Given the description of an element on the screen output the (x, y) to click on. 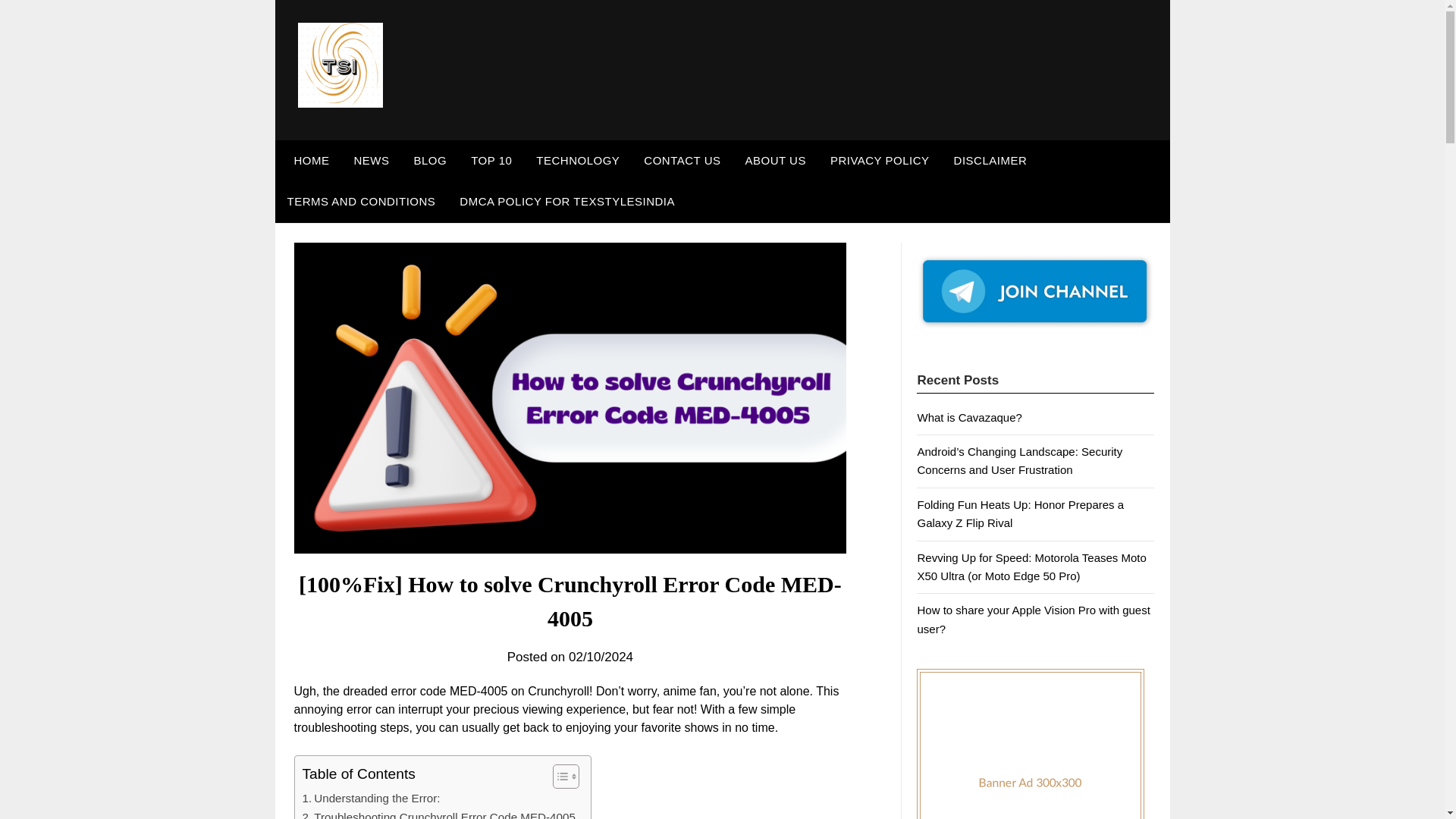
TECHNOLOGY (577, 160)
Troubleshooting Crunchyroll Error Code MED-4005 (438, 813)
Folding Fun Heats Up: Honor Prepares a Galaxy Z Flip Rival (1020, 513)
PRIVACY POLICY (880, 160)
HOME (307, 160)
TERMS AND CONDITIONS (360, 200)
BLOG (430, 160)
DMCA POLICY FOR TEXSTYLESINDIA (566, 200)
How to share your Apple Vision Pro with guest user? (1033, 618)
Understanding the Error: (370, 798)
CONTACT US (681, 160)
NEWS (370, 160)
TOP 10 (491, 160)
Understanding the Error: (370, 798)
DISCLAIMER (990, 160)
